Given the description of an element on the screen output the (x, y) to click on. 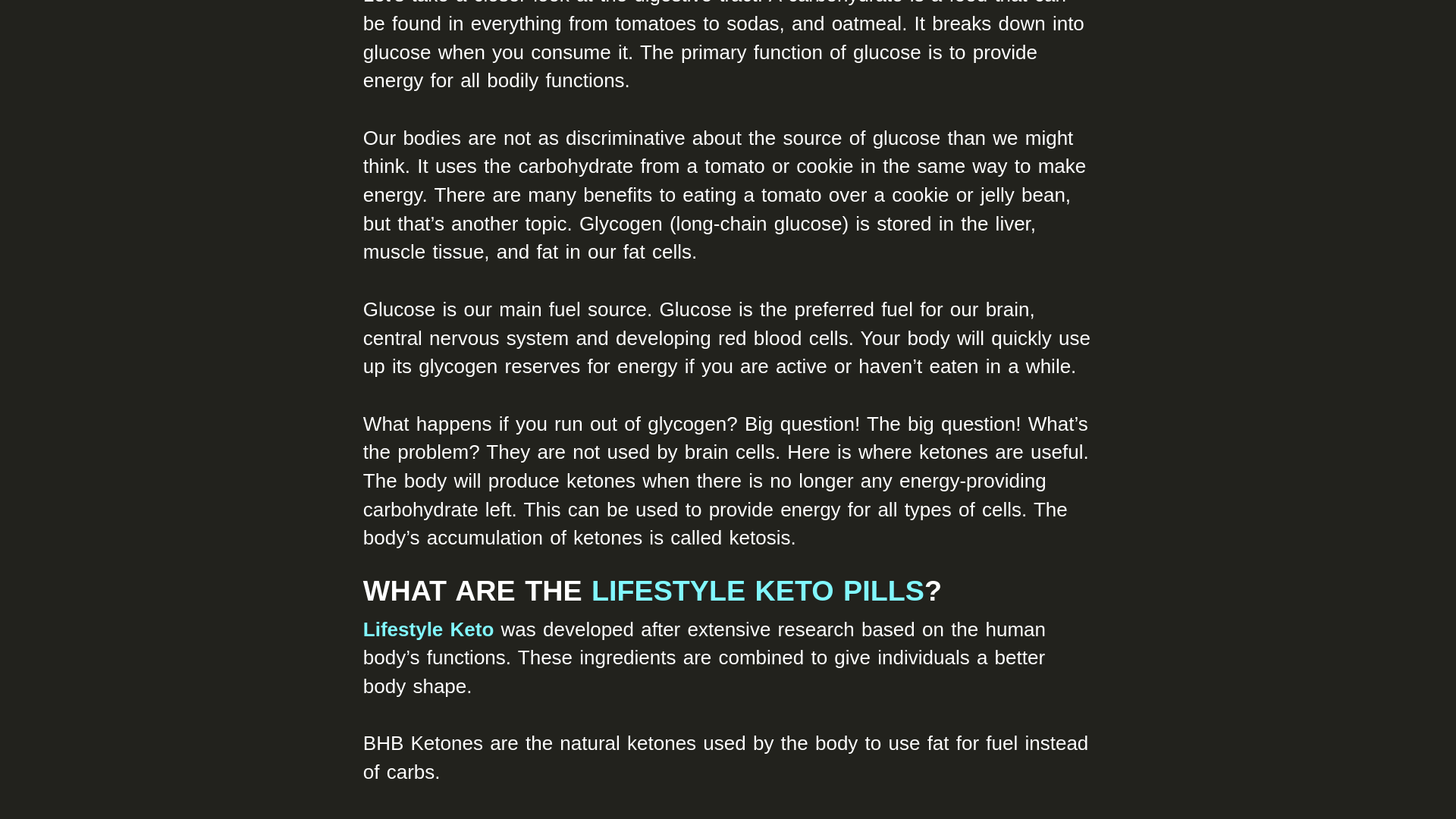
Lifestyle Keto (428, 629)
LIFESTYLE KETO PILLS (757, 590)
